Given the description of an element on the screen output the (x, y) to click on. 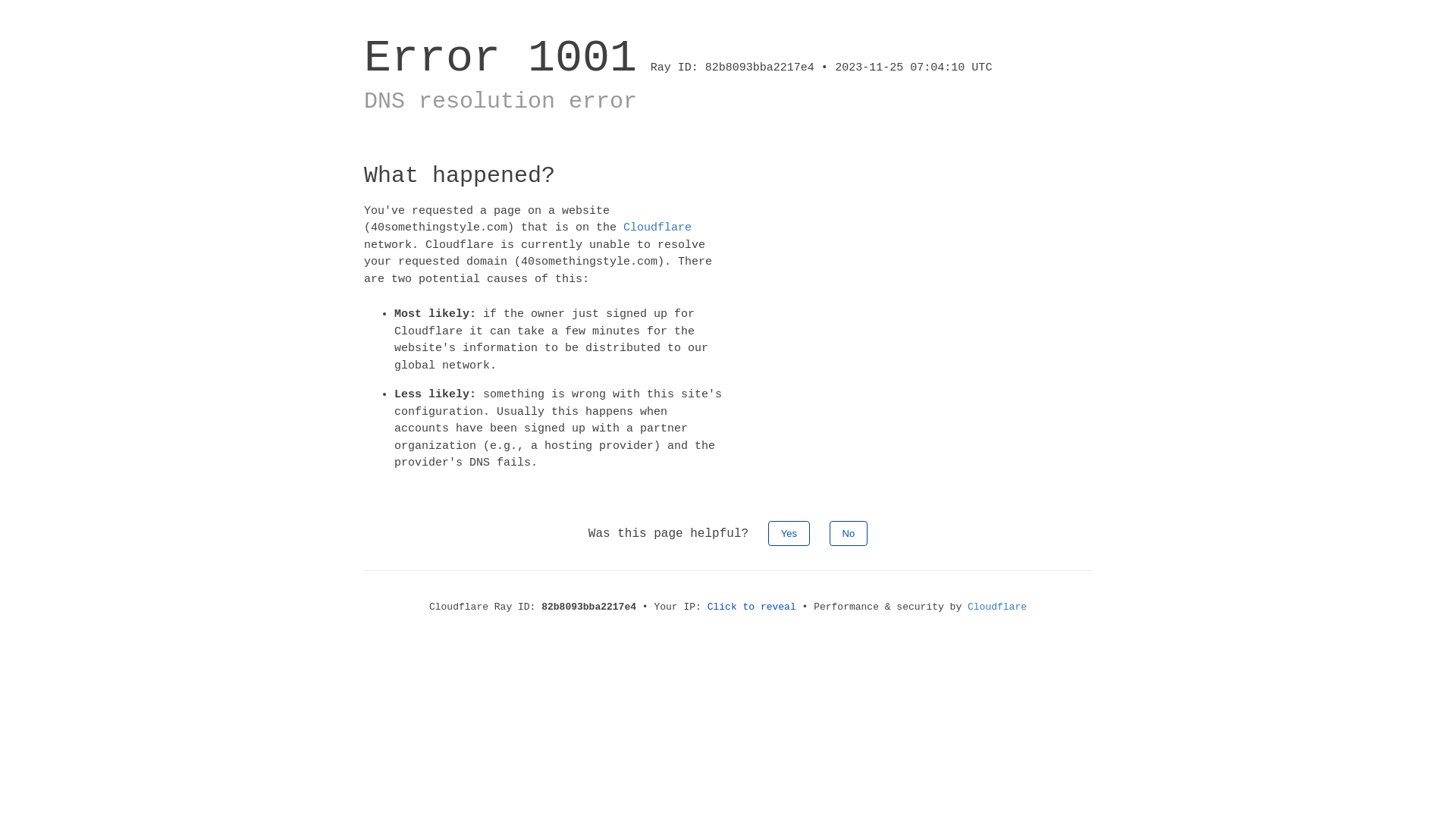
Cloudflare Element type: text (657, 227)
Yes Element type: text (788, 532)
Cloudflare Element type: text (996, 605)
Click to reveal Element type: text (751, 605)
No Element type: text (848, 532)
